Given the description of an element on the screen output the (x, y) to click on. 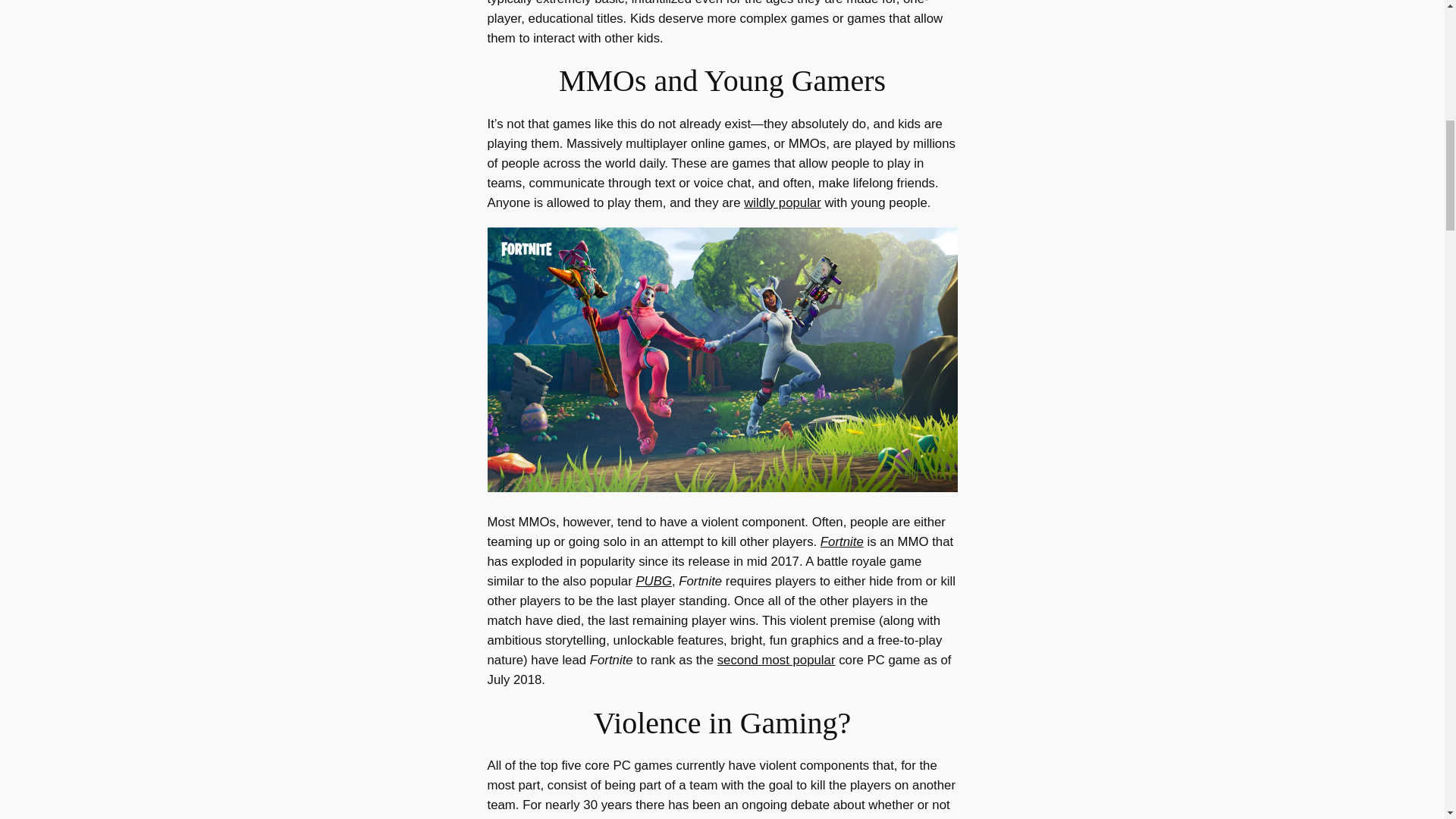
wildly popular (782, 202)
second most popular (776, 659)
PUBG (652, 581)
Fortnite (842, 541)
